Given the description of an element on the screen output the (x, y) to click on. 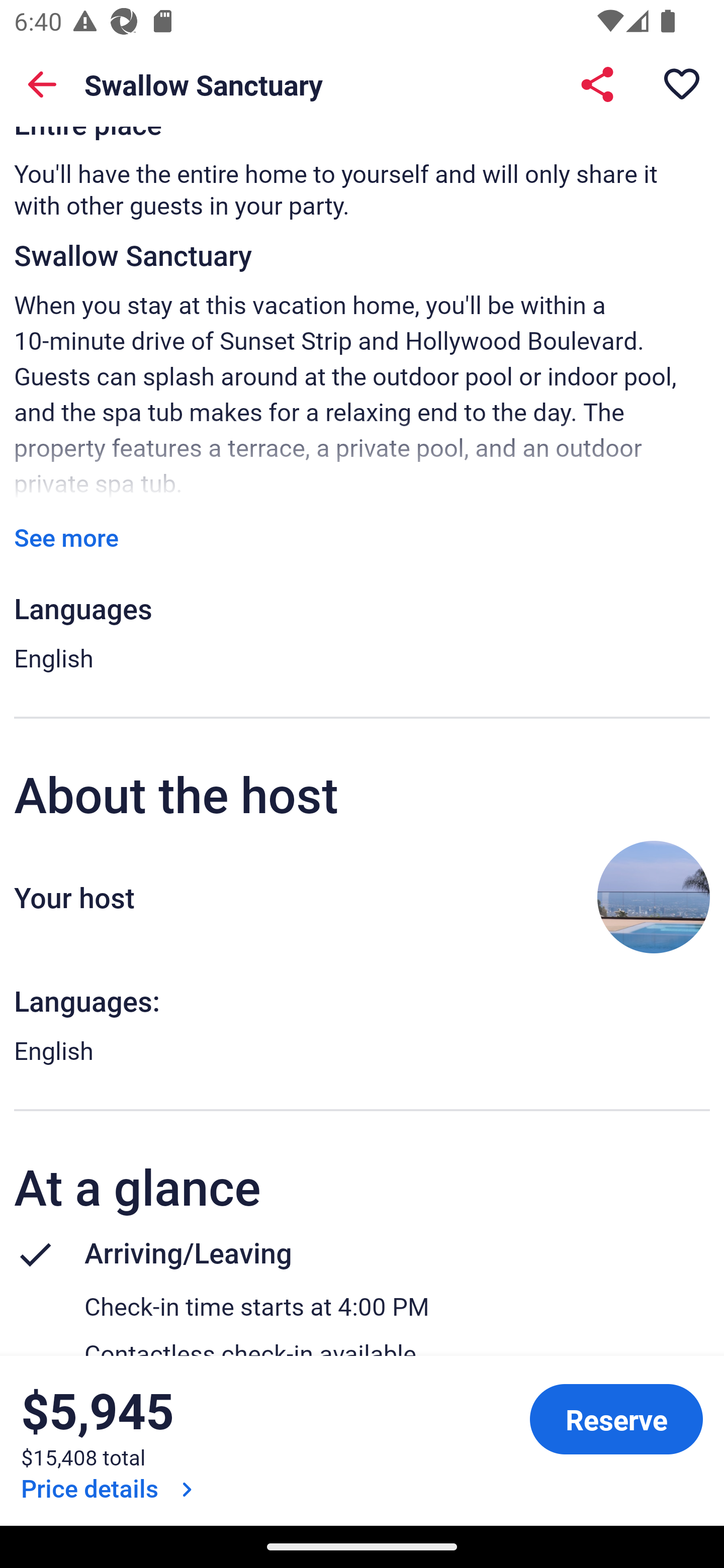
Back (42, 84)
Save property to a trip (681, 84)
Share Swallow Sanctuary (597, 84)
See more See more Link (65, 537)
